Given the description of an element on the screen output the (x, y) to click on. 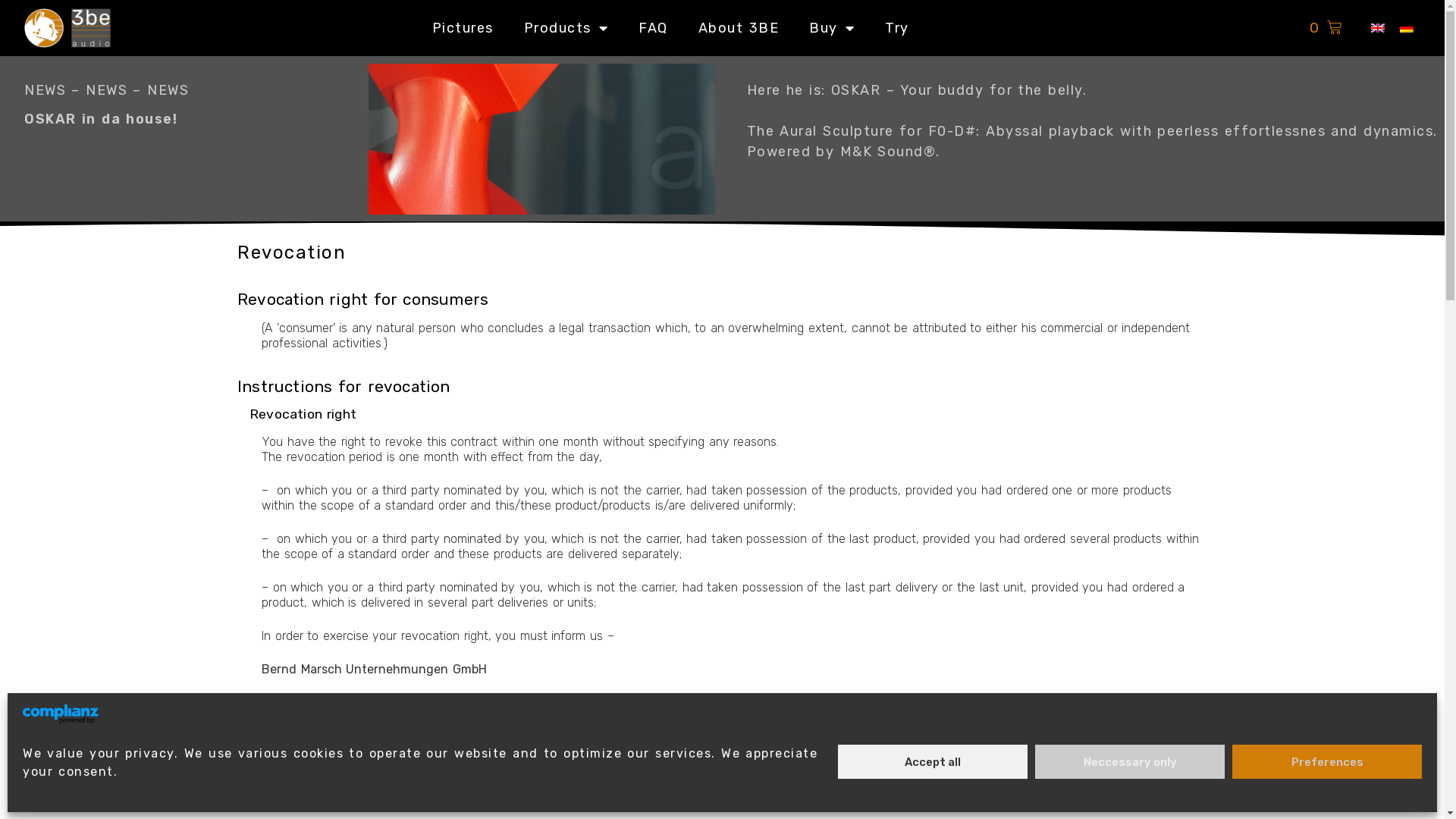
Preferences Element type: text (1326, 761)
Products Element type: text (566, 27)
Neccessary only Element type: text (1129, 761)
About 3BE Element type: text (738, 27)
Buy Element type: text (831, 27)
Try Element type: text (896, 27)
Accept all Element type: text (932, 761)
0 Element type: text (1325, 28)
FAQ Element type: text (653, 27)
Pictures Element type: text (462, 27)
